Given the description of an element on the screen output the (x, y) to click on. 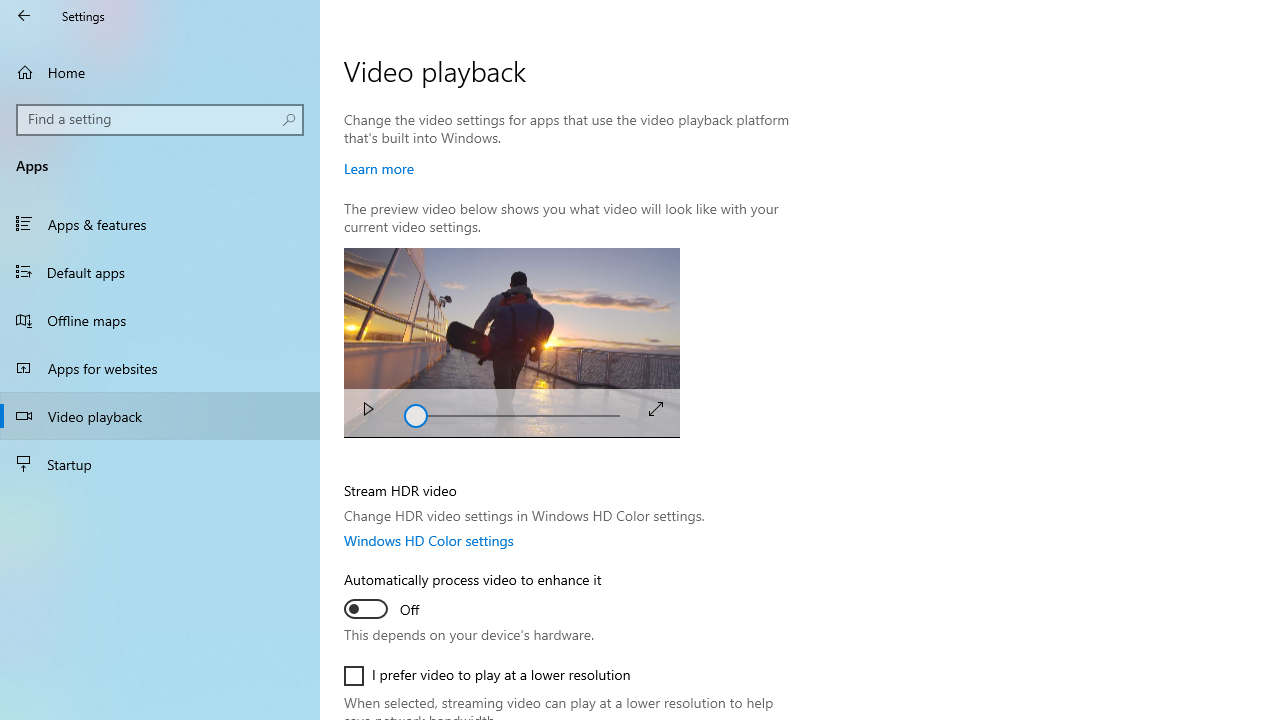
Full Screen (655, 408)
Apps for websites (160, 367)
Play (367, 412)
I prefer video to play at a lower resolution (487, 675)
Search box, Find a setting (160, 119)
Apps & features (160, 223)
Home (160, 71)
Learn more (379, 168)
Automatically process video to enhance it (472, 597)
Default apps (160, 271)
Windows HD Color settings (429, 540)
Video playback (160, 415)
Offline maps (160, 319)
Startup (160, 463)
